Given the description of an element on the screen output the (x, y) to click on. 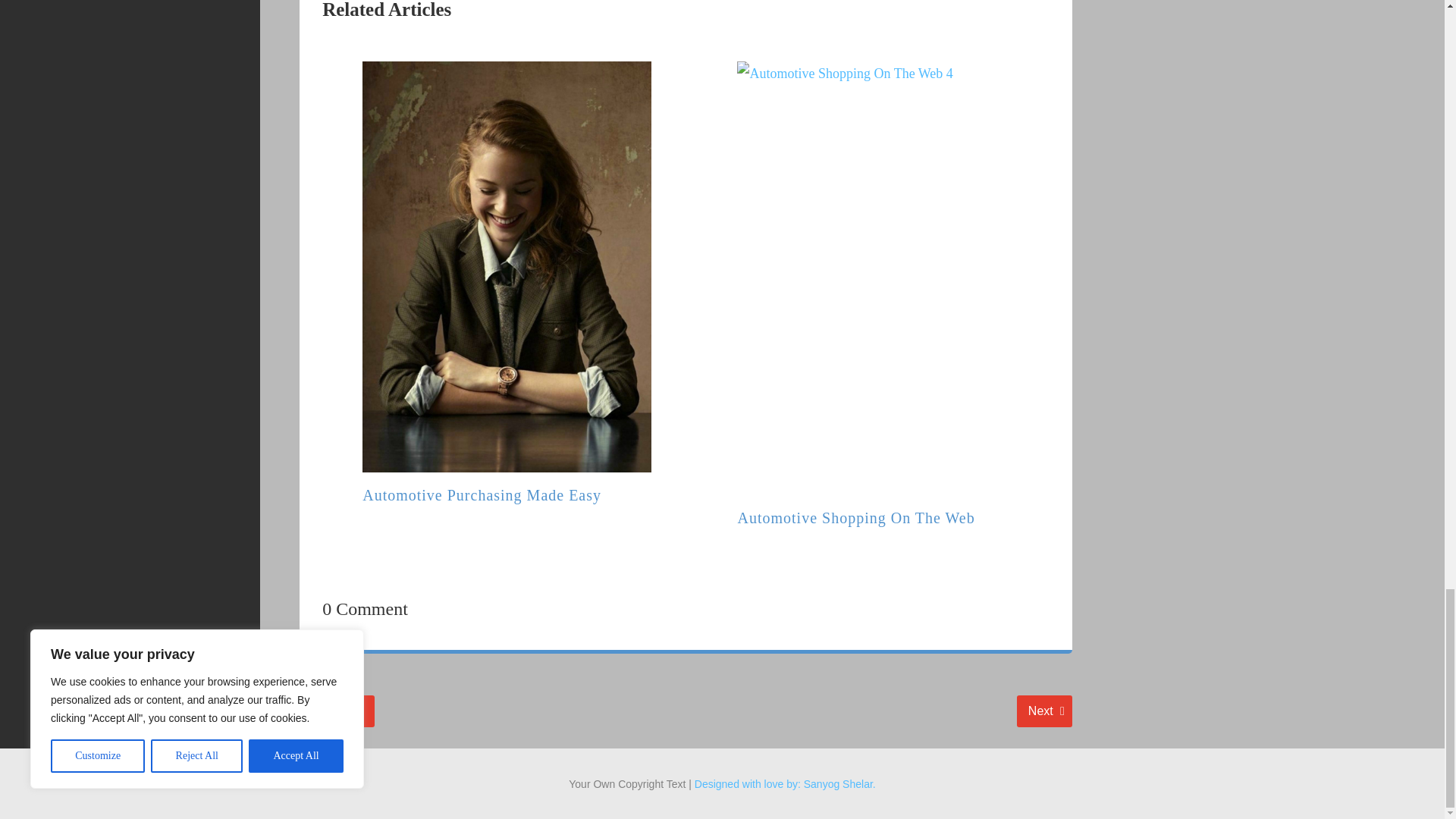
Automotive Shopping On The Web (855, 517)
Automotive Purchasing Made Easy (481, 494)
